Given the description of an element on the screen output the (x, y) to click on. 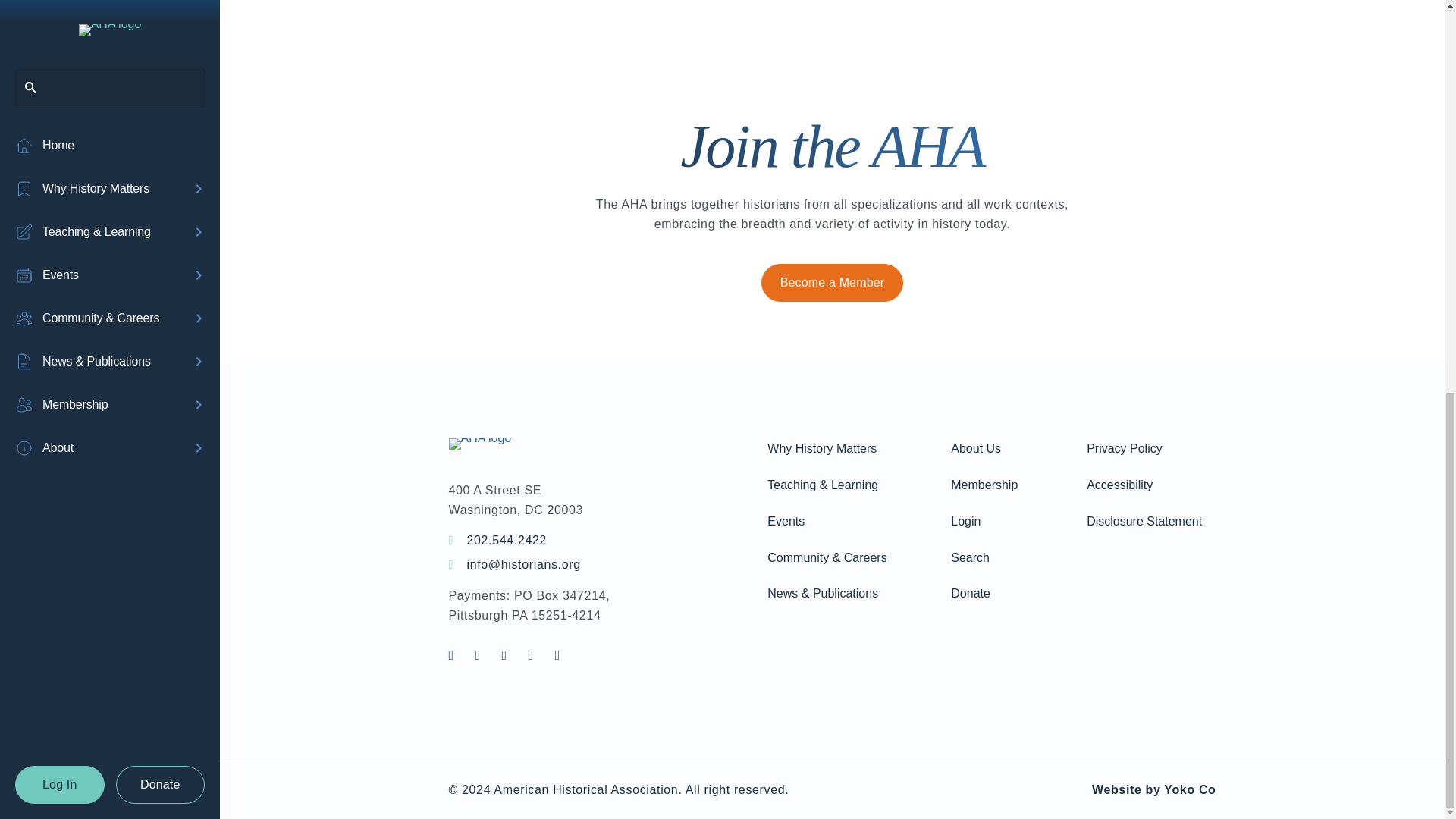
AHA-logo-blue (480, 444)
